Given the description of an element on the screen output the (x, y) to click on. 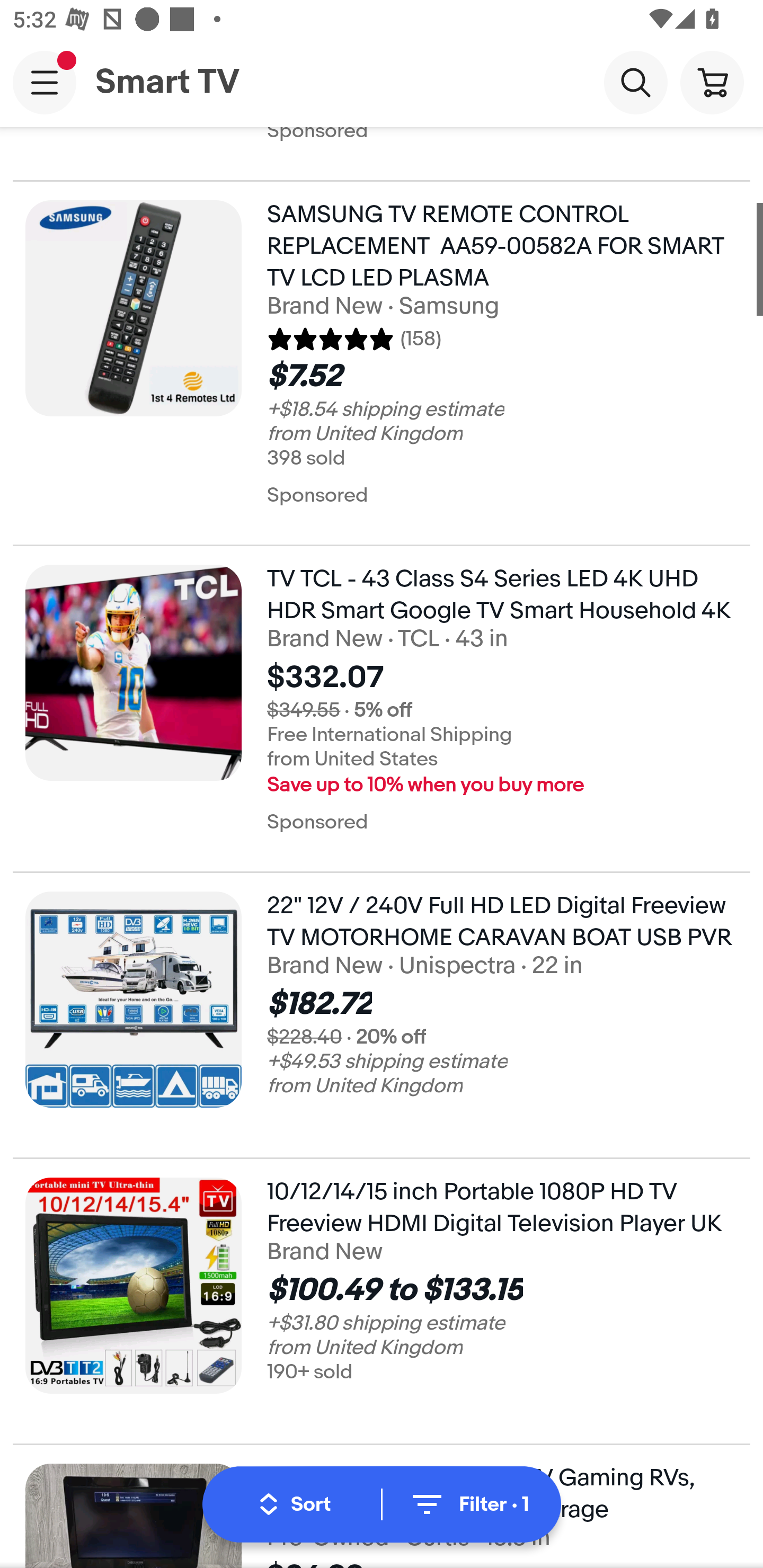
Main navigation, open (44, 82)
Search (635, 81)
Cart button shopping cart (711, 81)
Sort (294, 1504)
Filter • 1 (468, 1504)
